Given the description of an element on the screen output the (x, y) to click on. 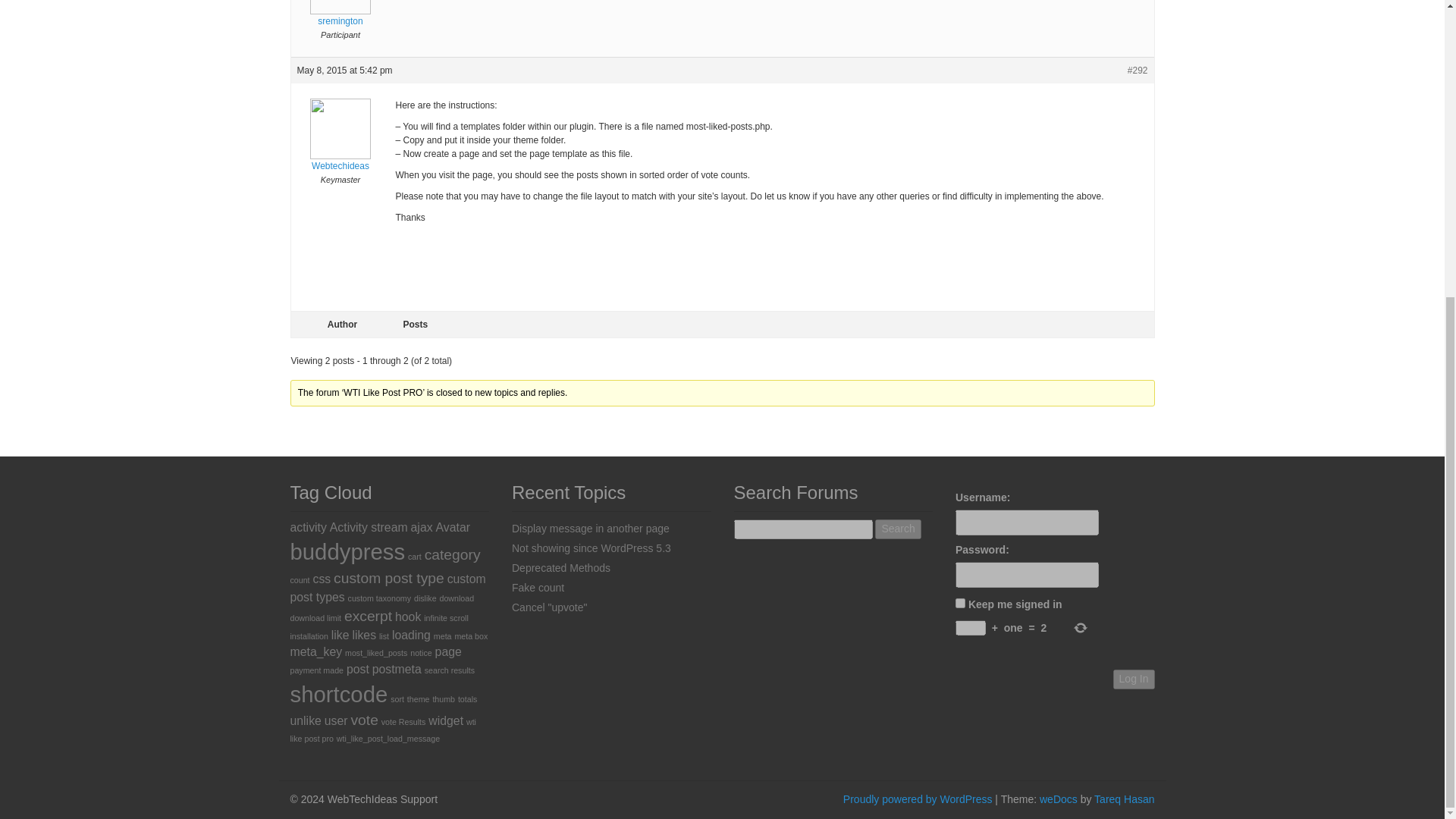
sremington (340, 14)
ajax (421, 526)
custom taxonomy (379, 597)
custom post types (386, 587)
category (452, 554)
Search (897, 528)
activity (307, 526)
Webtechideas (340, 145)
download (456, 597)
Avatar (451, 526)
count (298, 579)
excerpt (367, 616)
css (321, 578)
custom post type (388, 578)
View sremington's profile (340, 14)
